Given the description of an element on the screen output the (x, y) to click on. 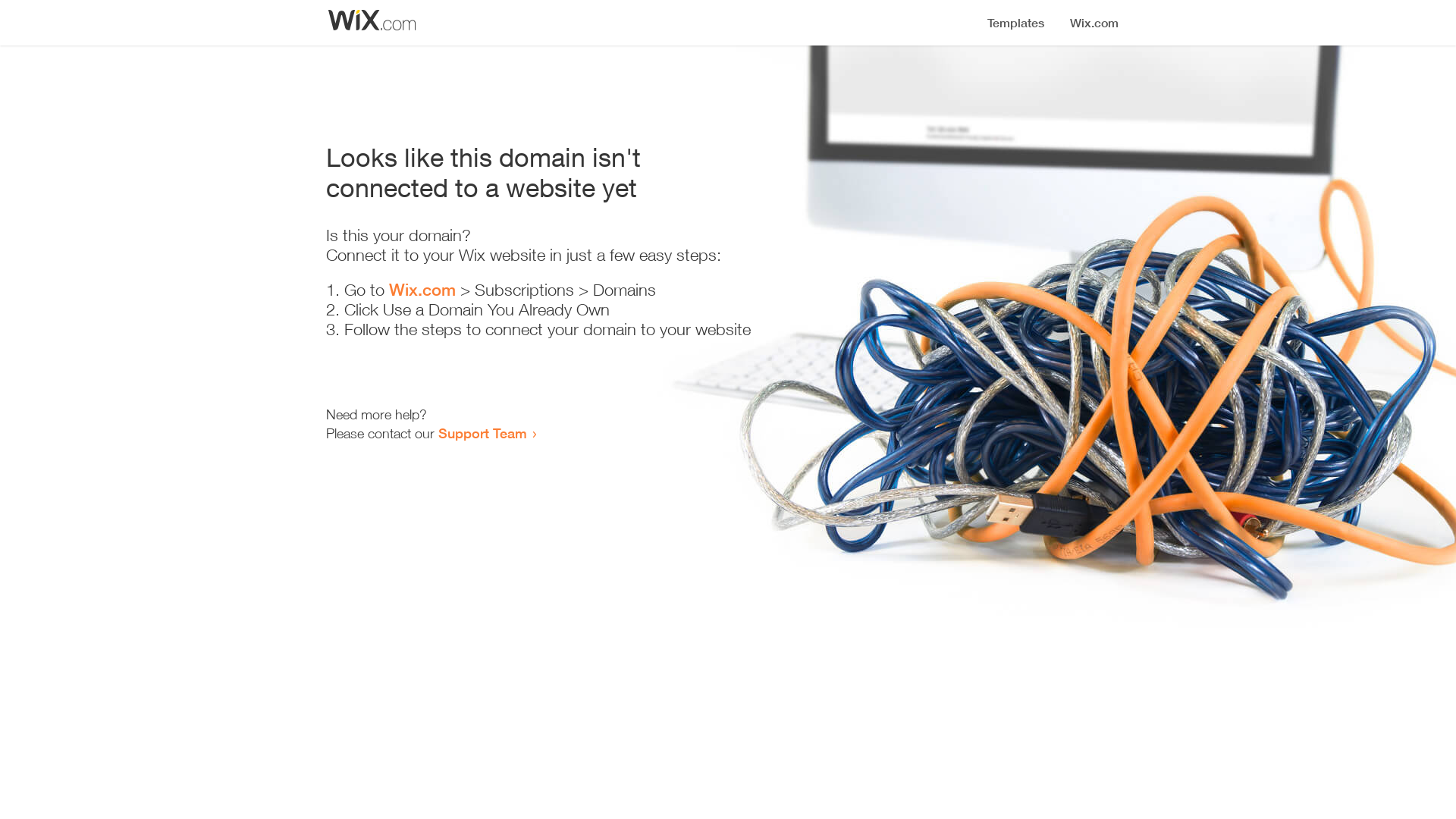
Wix.com Element type: text (422, 289)
Support Team Element type: text (482, 432)
